Given the description of an element on the screen output the (x, y) to click on. 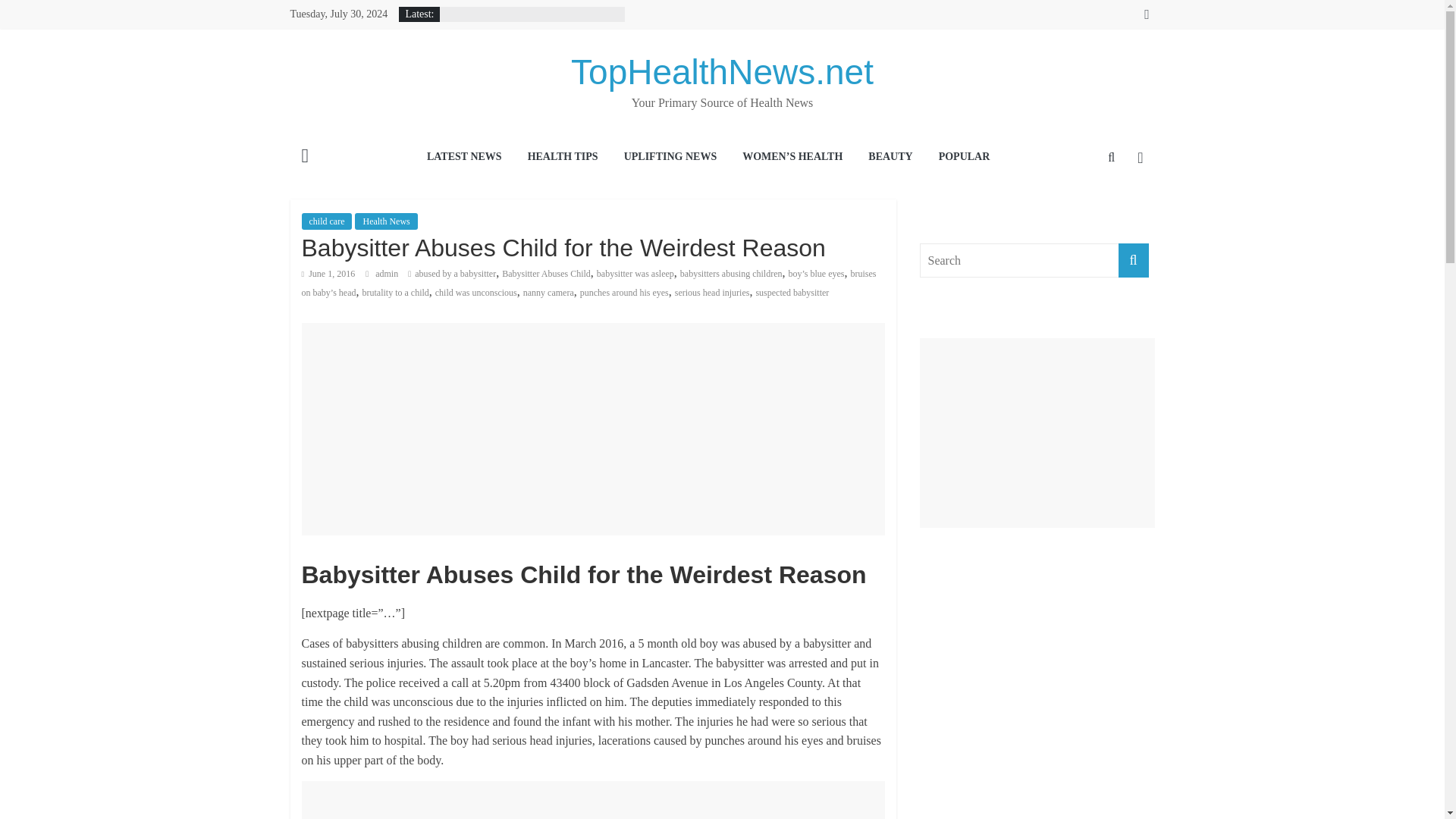
HEALTH TIPS (562, 157)
child care (326, 221)
UPLIFTING NEWS (670, 157)
serious head injuries (712, 292)
TopHealthNews.net (721, 71)
admin (387, 273)
BEAUTY (889, 157)
LATEST NEWS (464, 157)
Popular (964, 157)
admin (387, 273)
brutality to a child (394, 292)
babysitters abusing children (731, 273)
4:14 pm (328, 273)
child was unconscious (475, 292)
babysitter was asleep (635, 273)
